Given the description of an element on the screen output the (x, y) to click on. 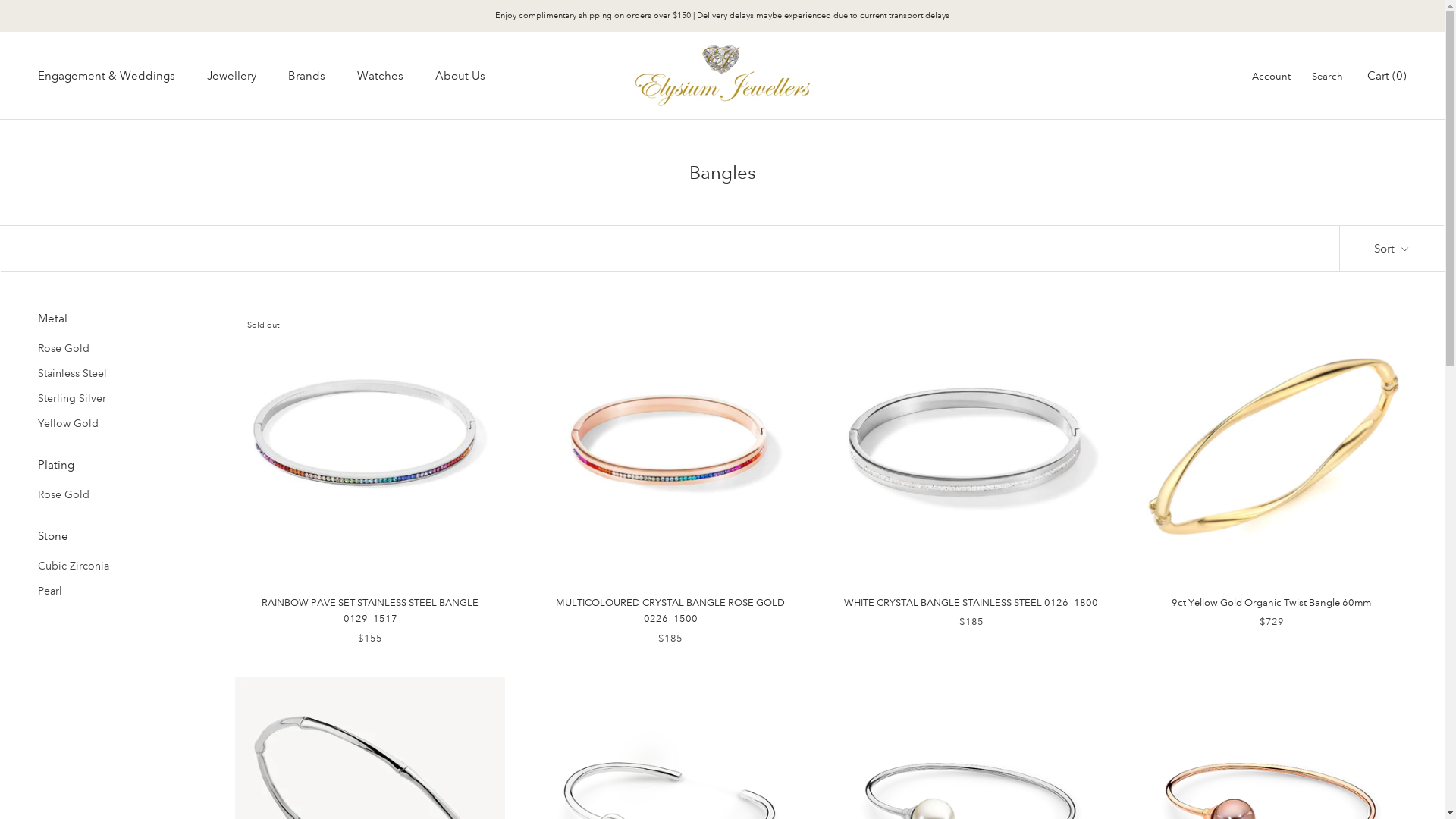
Brands
Brands Element type: text (306, 75)
Engagement & Weddings
Engagement & Weddings Element type: text (106, 75)
Cart (0) Element type: text (1386, 75)
Rose Gold Element type: text (113, 494)
Watches
Watches Element type: text (380, 75)
Yellow Gold Element type: text (113, 423)
Sterling Silver Element type: text (113, 398)
Stainless Steel Element type: text (113, 373)
Rose Gold Element type: text (113, 348)
Metal Element type: text (113, 318)
WHITE CRYSTAL BANGLE STAINLESS STEEL 0126_1800 Element type: text (971, 602)
9ct Yellow Gold Organic Twist Bangle 60mm Element type: text (1271, 602)
Jewellery
Jewellery Element type: text (231, 75)
Account Element type: text (1271, 76)
Pearl Element type: text (113, 591)
Plating Element type: text (113, 464)
Cubic Zirconia Element type: text (113, 566)
Search Element type: text (1327, 76)
Sort Element type: text (1391, 248)
About Us
About Us Element type: text (460, 75)
MULTICOLOURED CRYSTAL BANGLE ROSE GOLD 0226_1500 Element type: text (669, 610)
Stone Element type: text (113, 536)
